Given the description of an element on the screen output the (x, y) to click on. 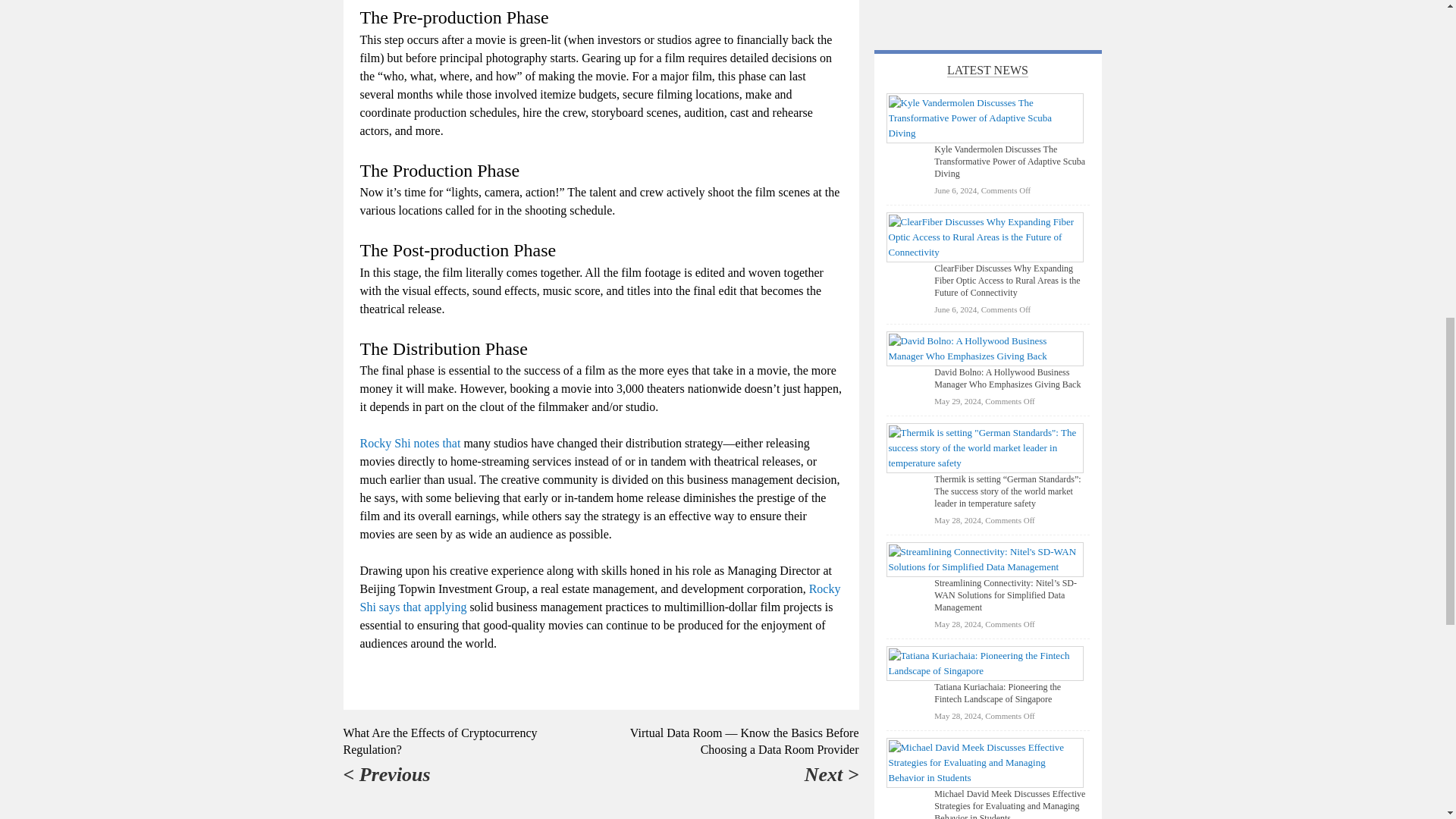
What Are the Effects of Cryptocurrency Regulation? (439, 740)
Rocky Shi says that applying (599, 597)
Rocky Shi notes that (409, 442)
Advertisement (986, 11)
